Given the description of an element on the screen output the (x, y) to click on. 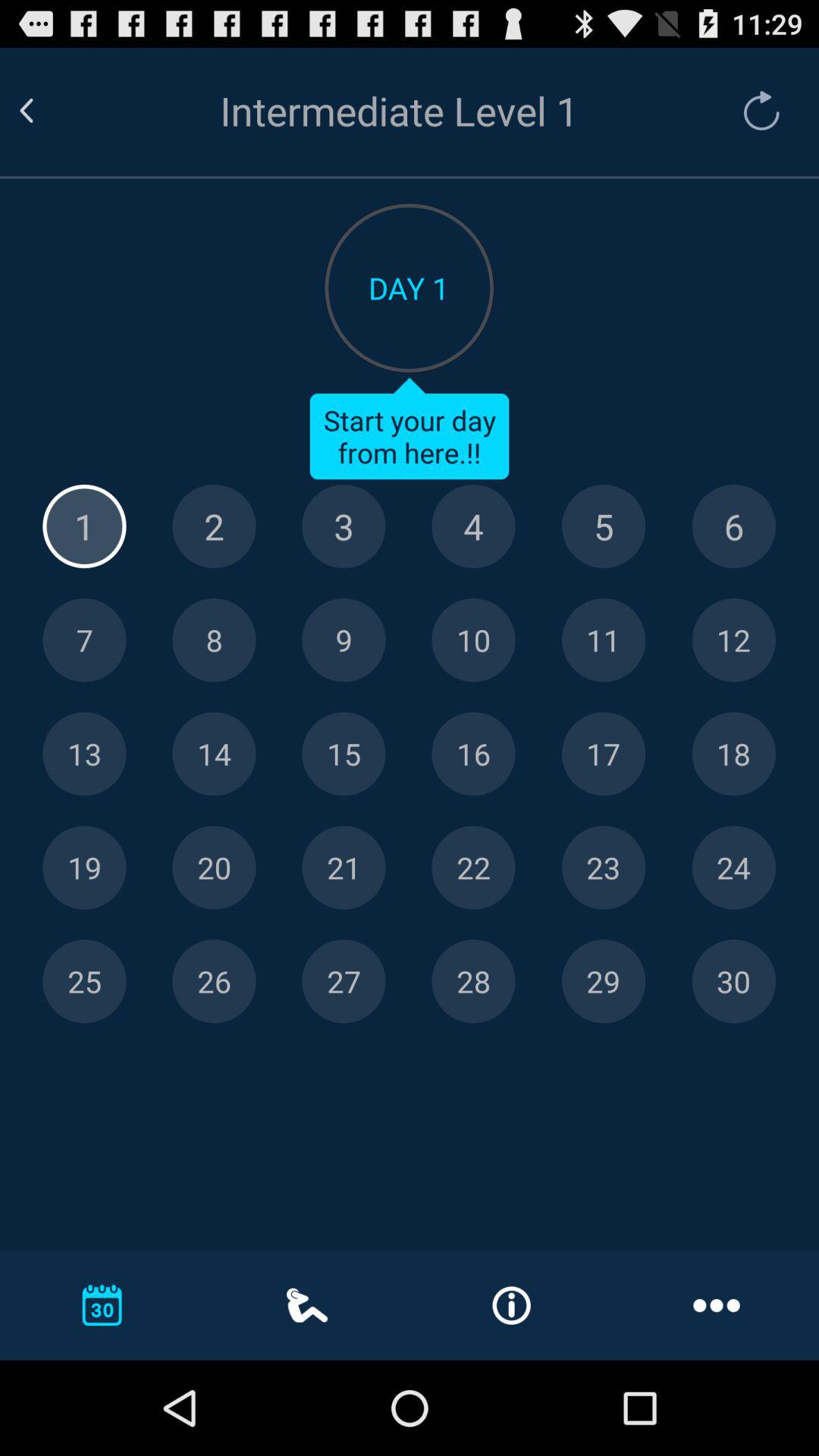
level 21 (343, 867)
